Given the description of an element on the screen output the (x, y) to click on. 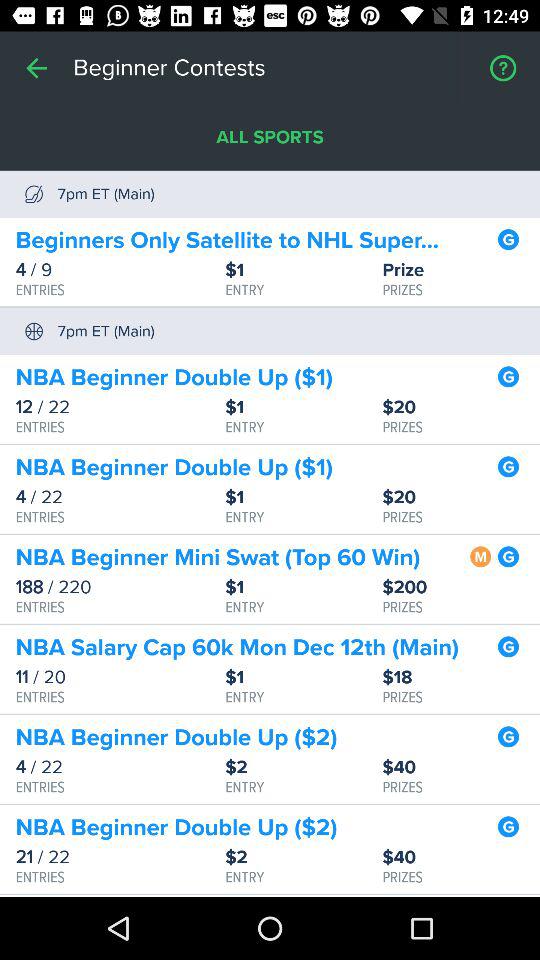
launch the icon to the left of the beginner contests icon (36, 68)
